Given the description of an element on the screen output the (x, y) to click on. 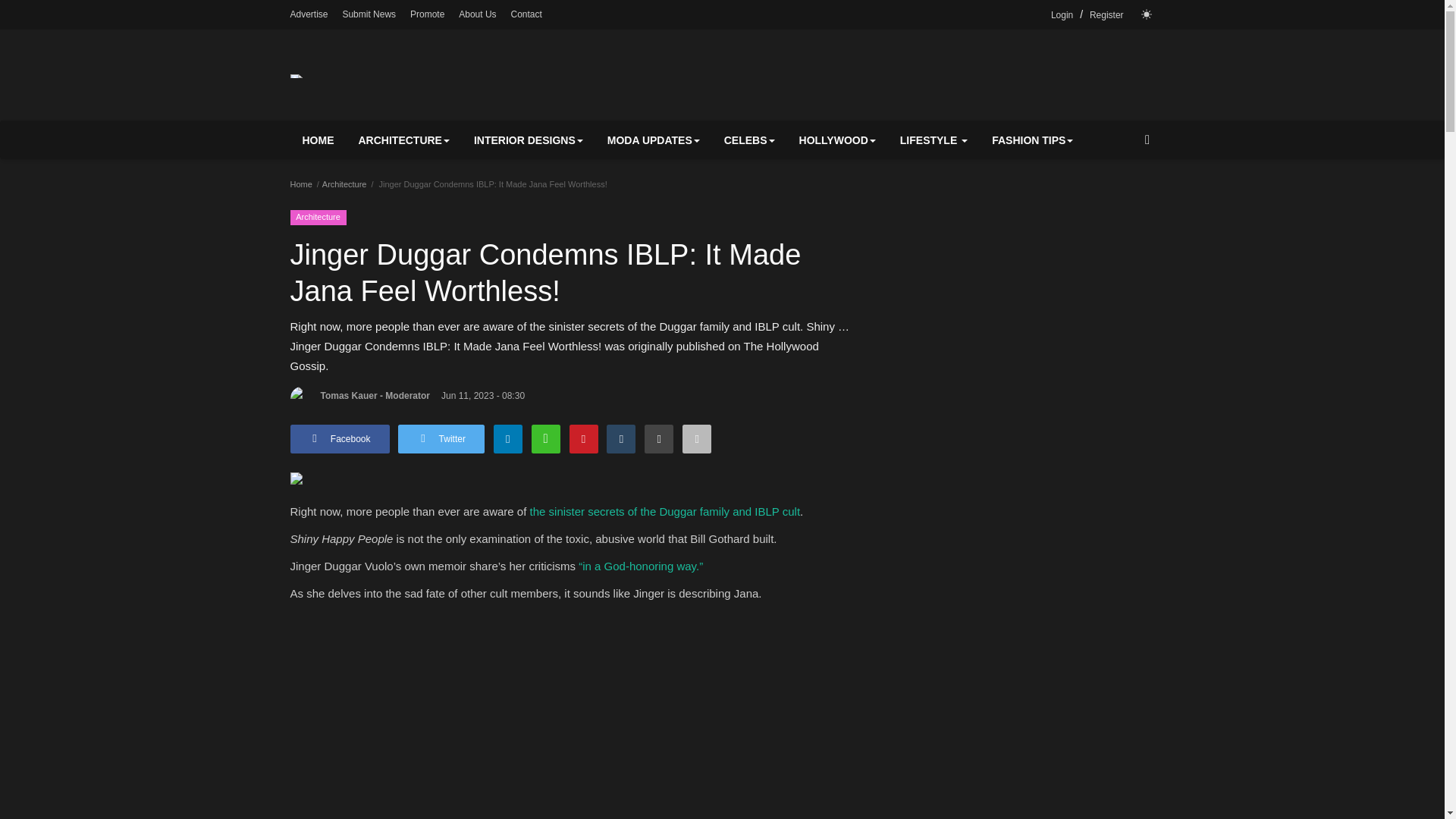
About Us (477, 14)
Login (1062, 15)
Submit News (369, 14)
Add to Reading List (696, 439)
HOME (317, 139)
INTERIOR DESIGNS (528, 139)
Contact (526, 14)
Promote (427, 14)
Register (1106, 15)
ARCHITECTURE (403, 139)
